Given the description of an element on the screen output the (x, y) to click on. 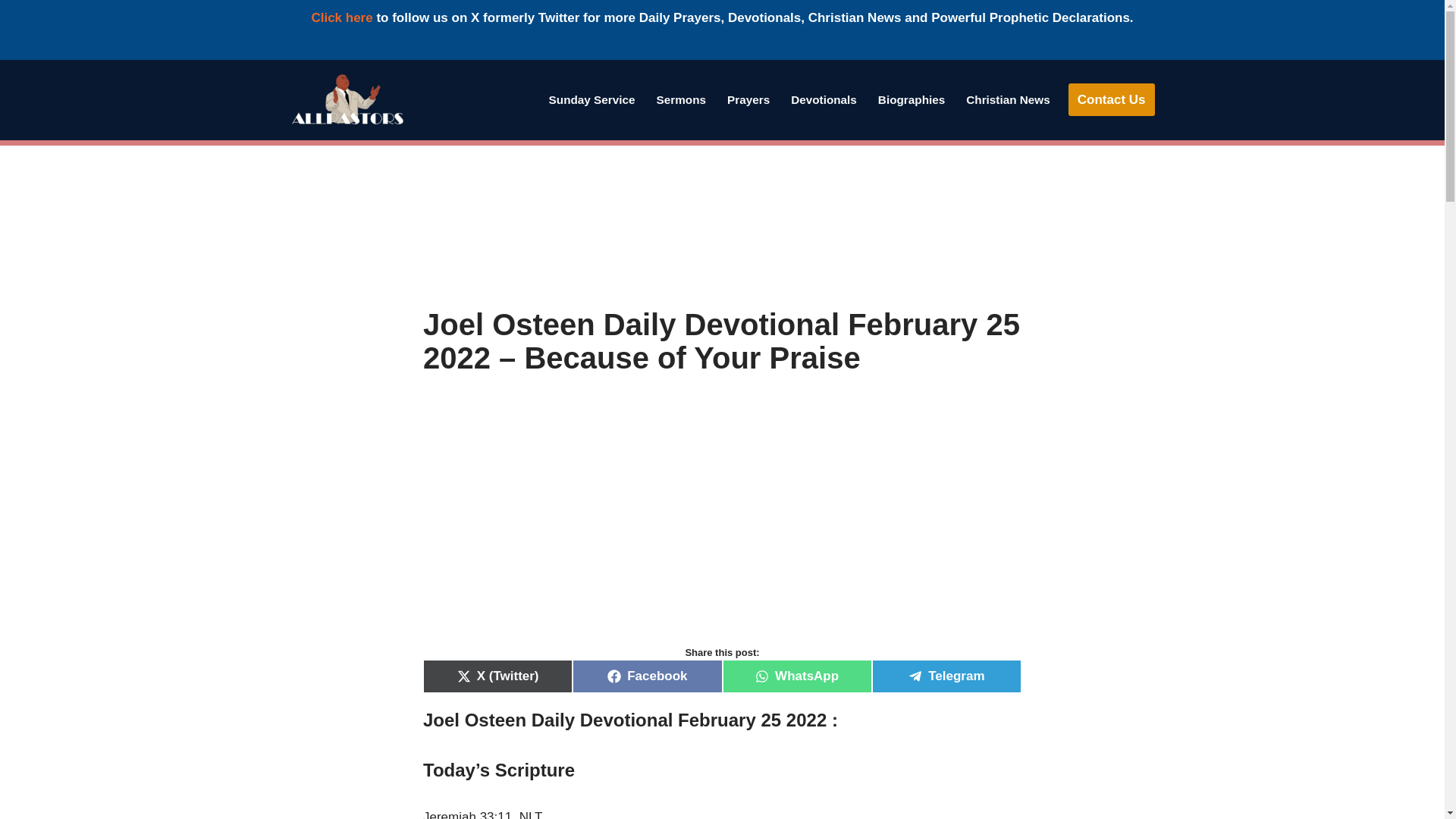
Advertisement (722, 226)
Skip to content (11, 91)
Prayers (748, 99)
Telegram (947, 676)
Devotionals (823, 99)
Advertisement (722, 526)
Sermons (681, 99)
Biographies (910, 99)
Contact Us (1111, 99)
Sunday Service (591, 99)
SERMONS ONLINE (681, 99)
Click here (341, 17)
WhatsApp (796, 676)
Facebook (647, 676)
